Given the description of an element on the screen output the (x, y) to click on. 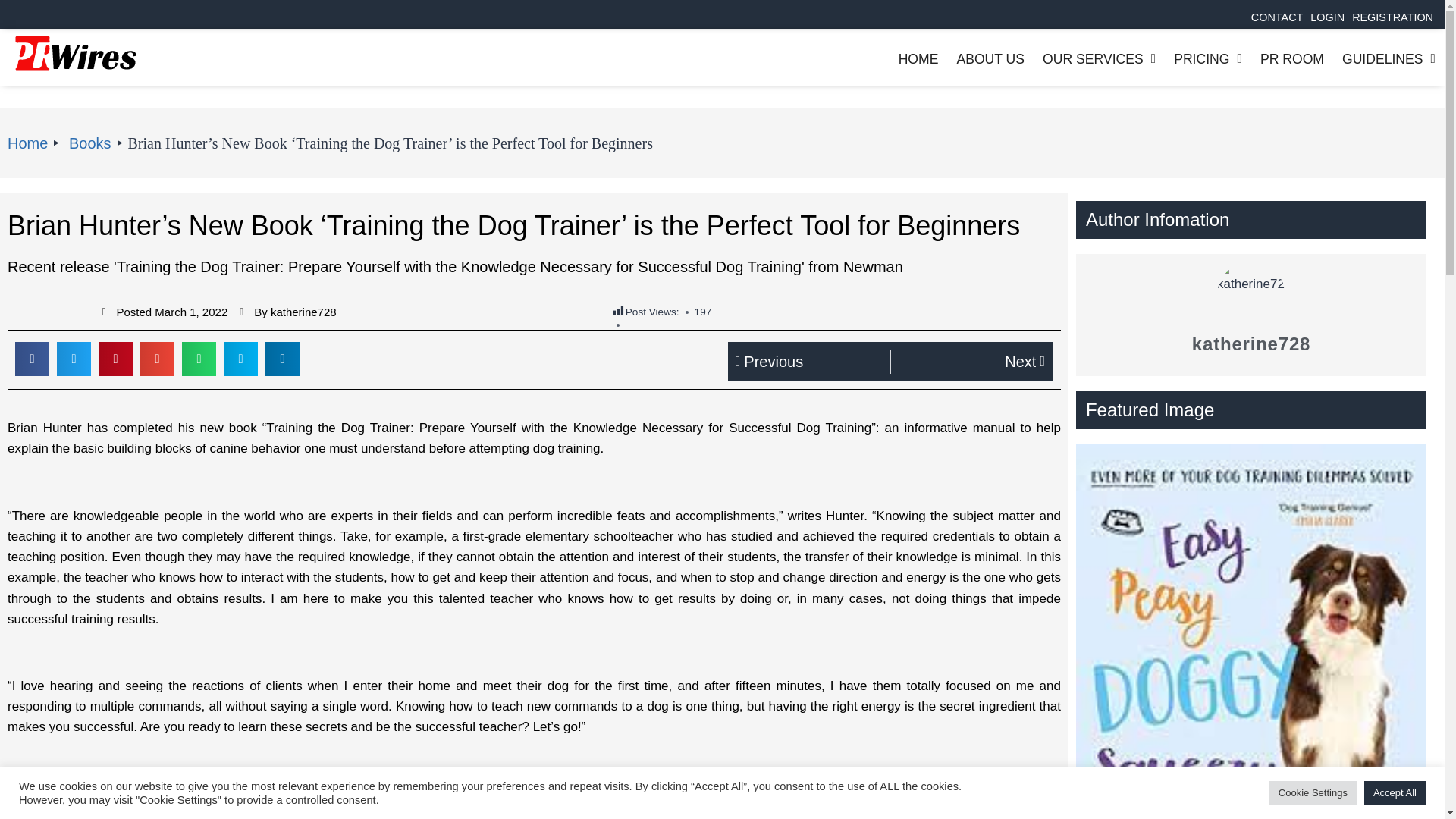
REGISTRATION (1392, 17)
HOME (918, 58)
PRICING (1207, 58)
CONTACT (1276, 17)
OUR SERVICES (1098, 58)
ABOUT US (990, 58)
PR ROOM (1291, 58)
LOGIN (1327, 17)
